Given the description of an element on the screen output the (x, y) to click on. 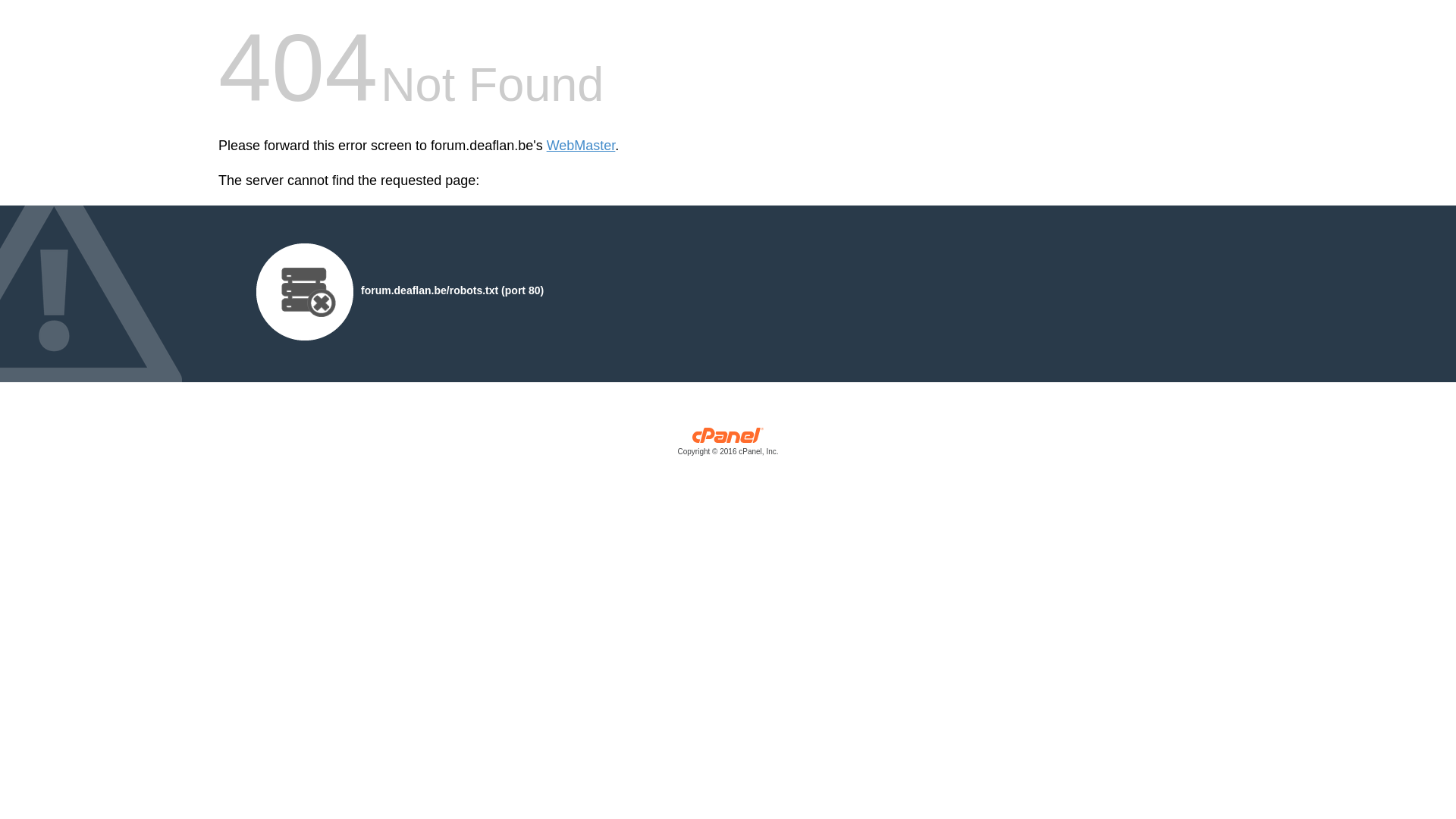
WebMaster Element type: text (580, 145)
